Given the description of an element on the screen output the (x, y) to click on. 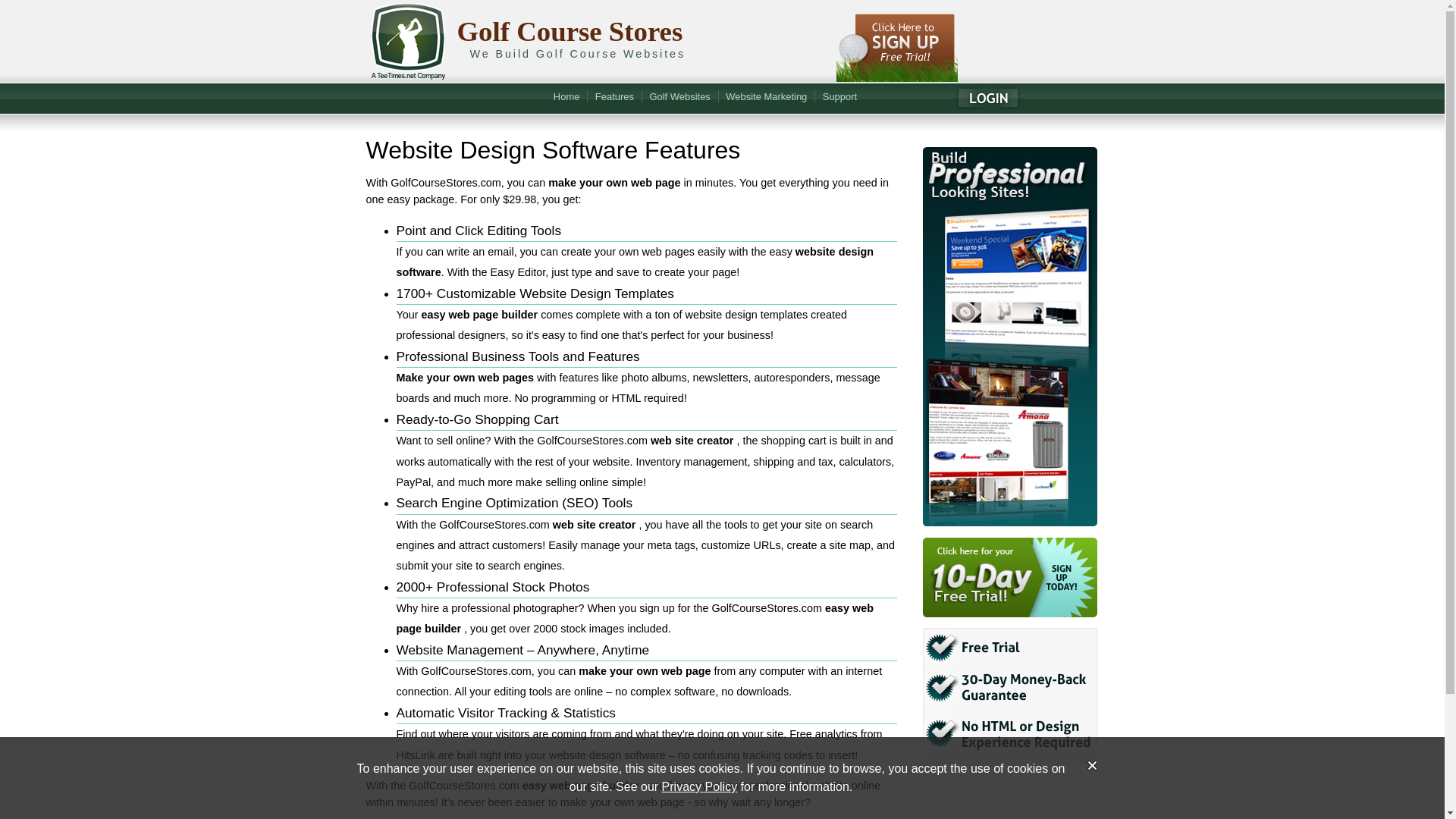
Support (839, 97)
Home (567, 97)
Website Marketing (765, 97)
Golf Websites (679, 97)
Privacy Policy (700, 786)
Features (615, 97)
